Given the description of an element on the screen output the (x, y) to click on. 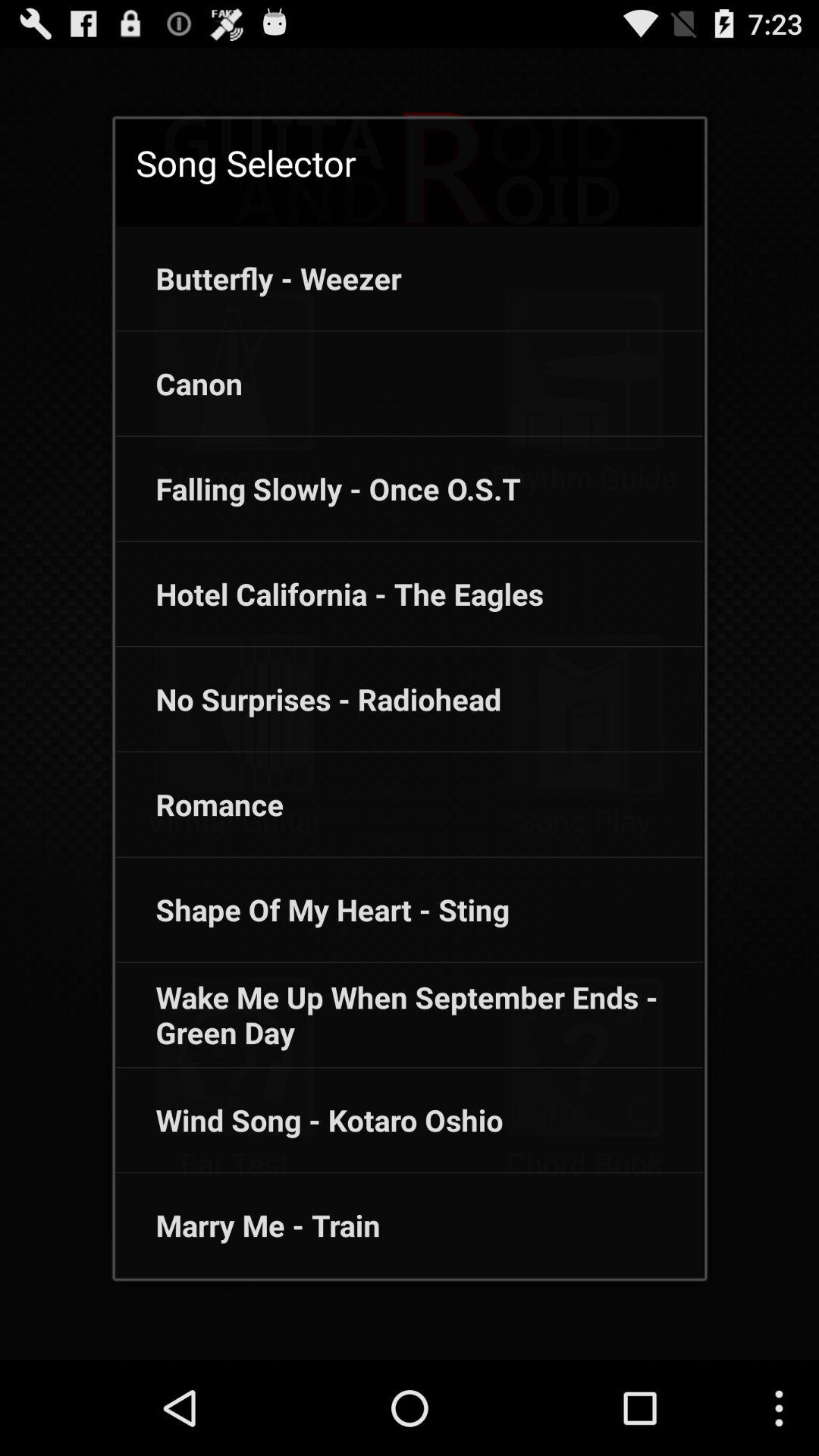
press no surprises - radiohead (308, 699)
